Given the description of an element on the screen output the (x, y) to click on. 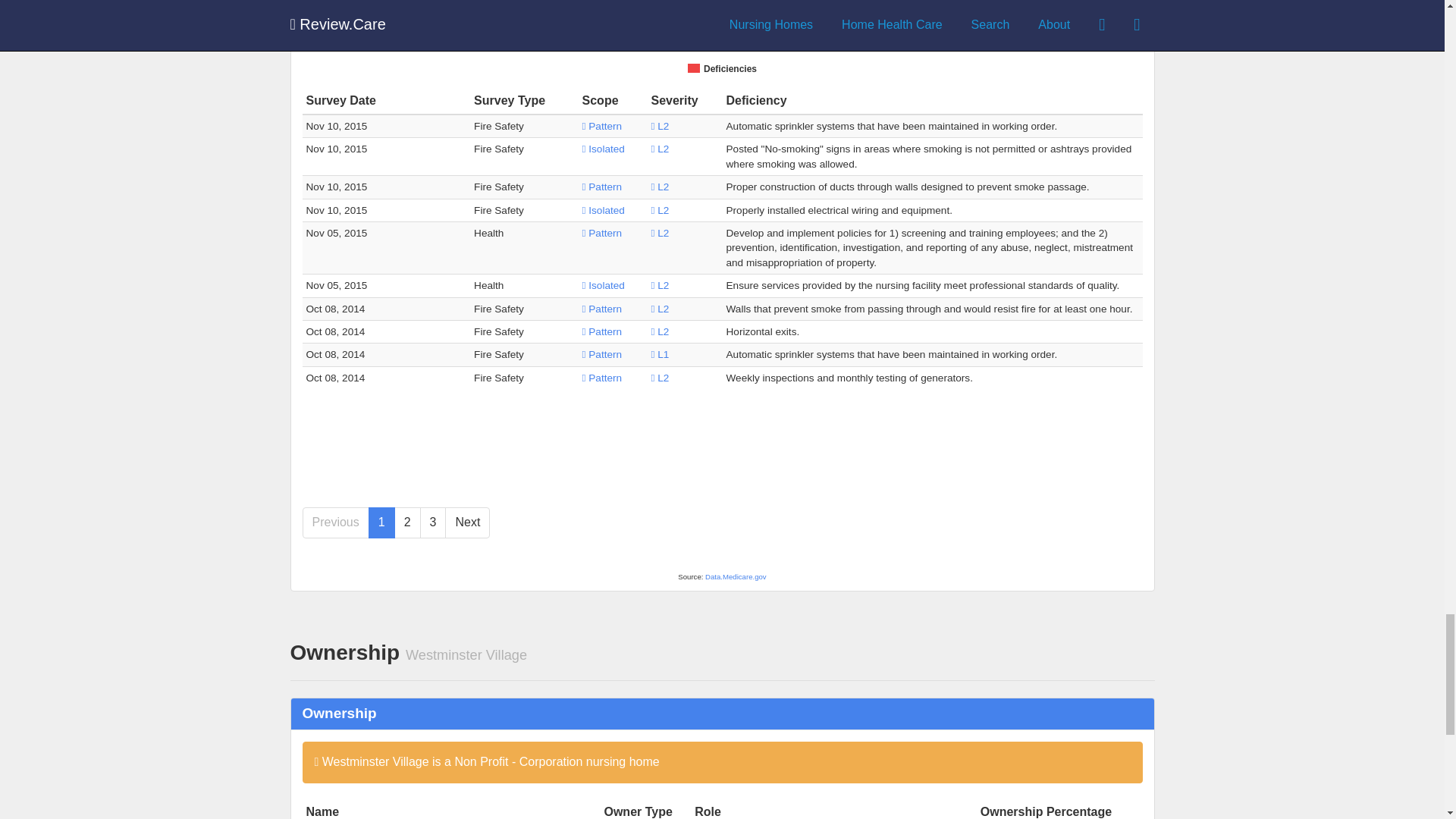
Pattern (602, 186)
Pattern (602, 331)
L2 (659, 148)
Previous (334, 522)
L2 (659, 308)
2 (407, 522)
L1 (659, 354)
Pattern (602, 378)
1 (381, 522)
Pattern (602, 125)
Pattern (602, 308)
Isolated (603, 285)
L2 (659, 331)
Pattern (602, 354)
L2 (659, 210)
